Given the description of an element on the screen output the (x, y) to click on. 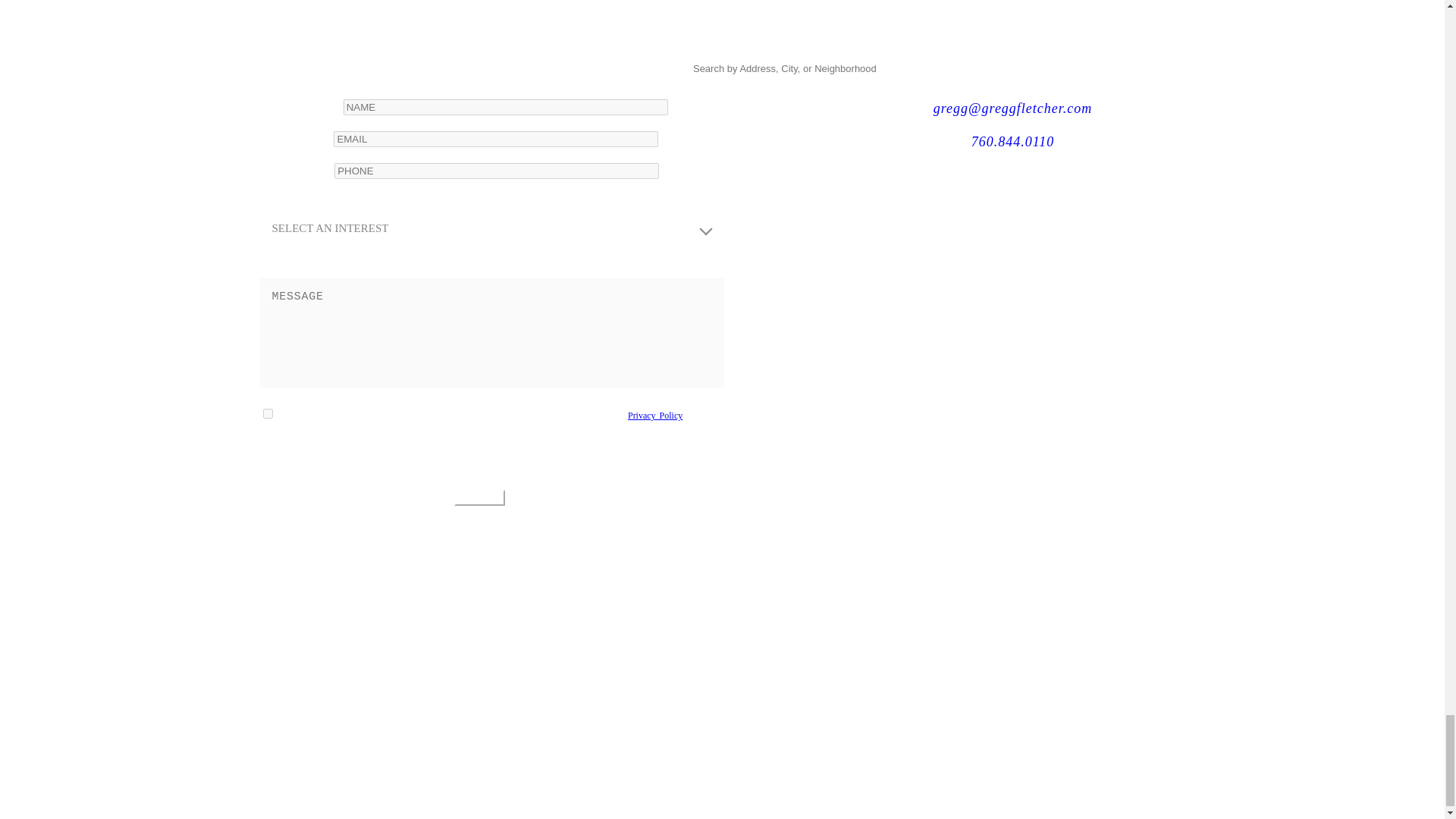
SUBMIT (478, 497)
on (267, 413)
